Given the description of an element on the screen output the (x, y) to click on. 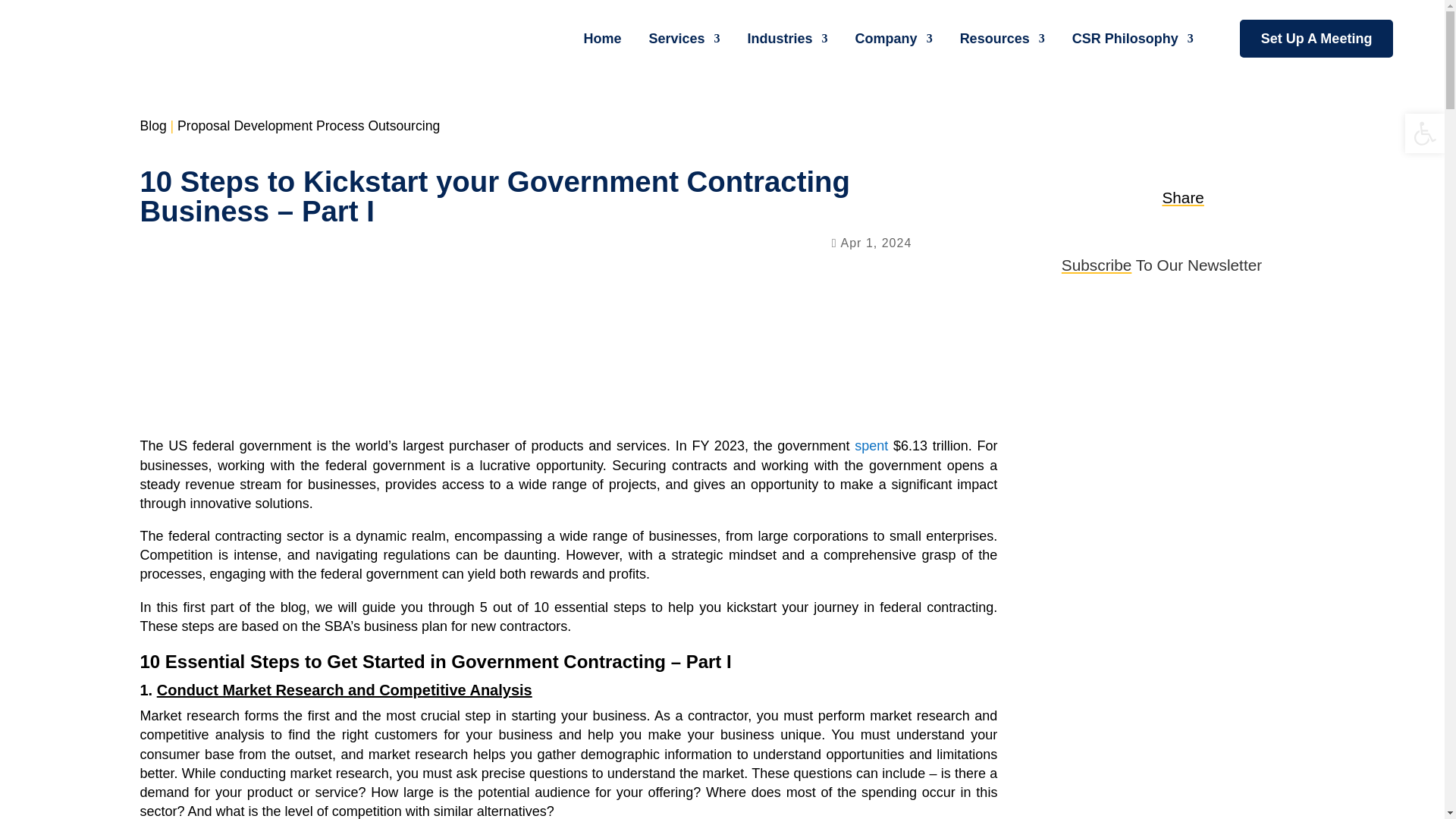
Industries (782, 37)
Services (679, 37)
Accessibility Tools (1424, 133)
CSR Philosophy (1127, 37)
Company (888, 37)
Resources (997, 37)
